Given the description of an element on the screen output the (x, y) to click on. 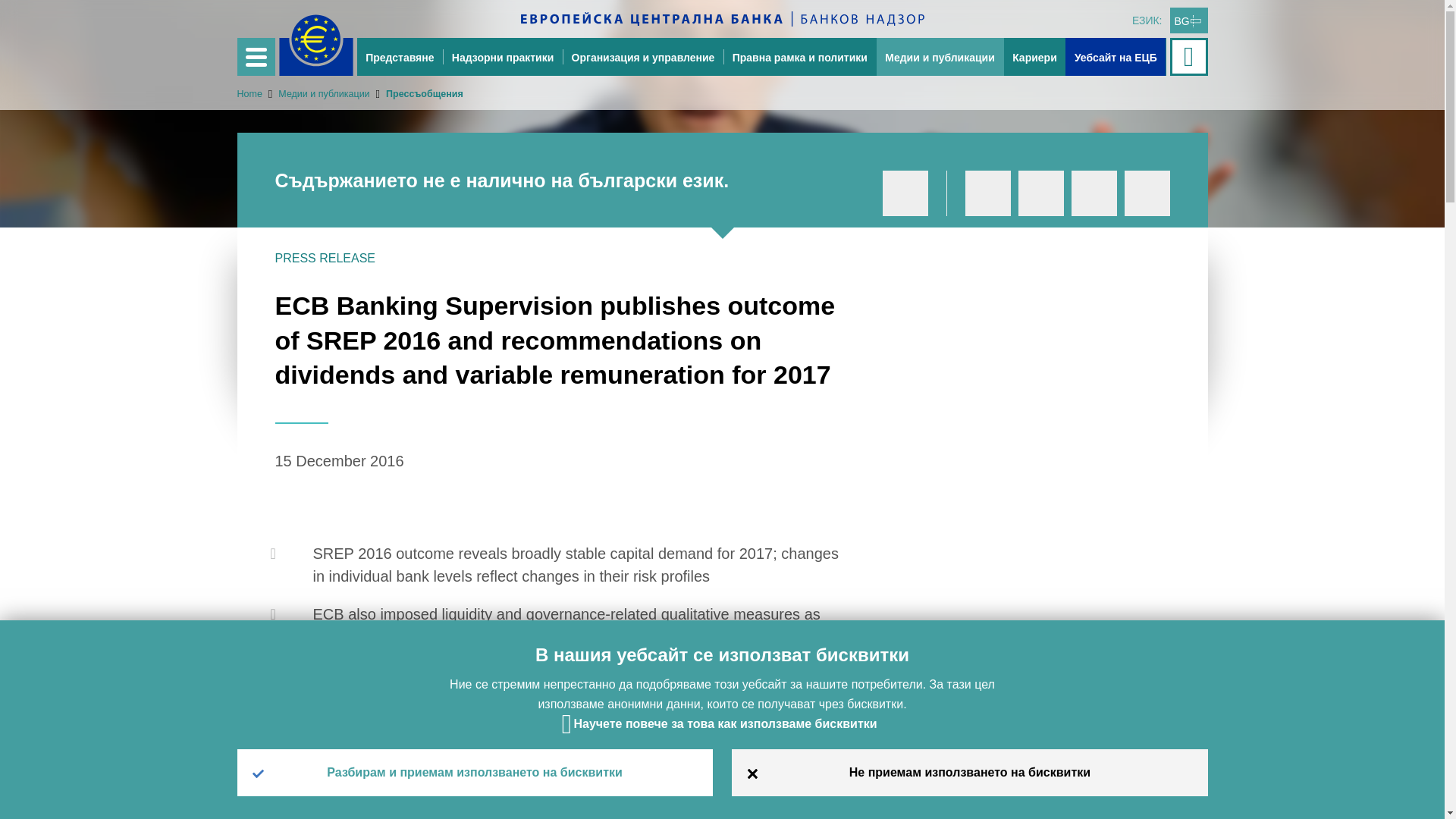
Menu (255, 56)
Home (248, 93)
Search (1190, 56)
